Given the description of an element on the screen output the (x, y) to click on. 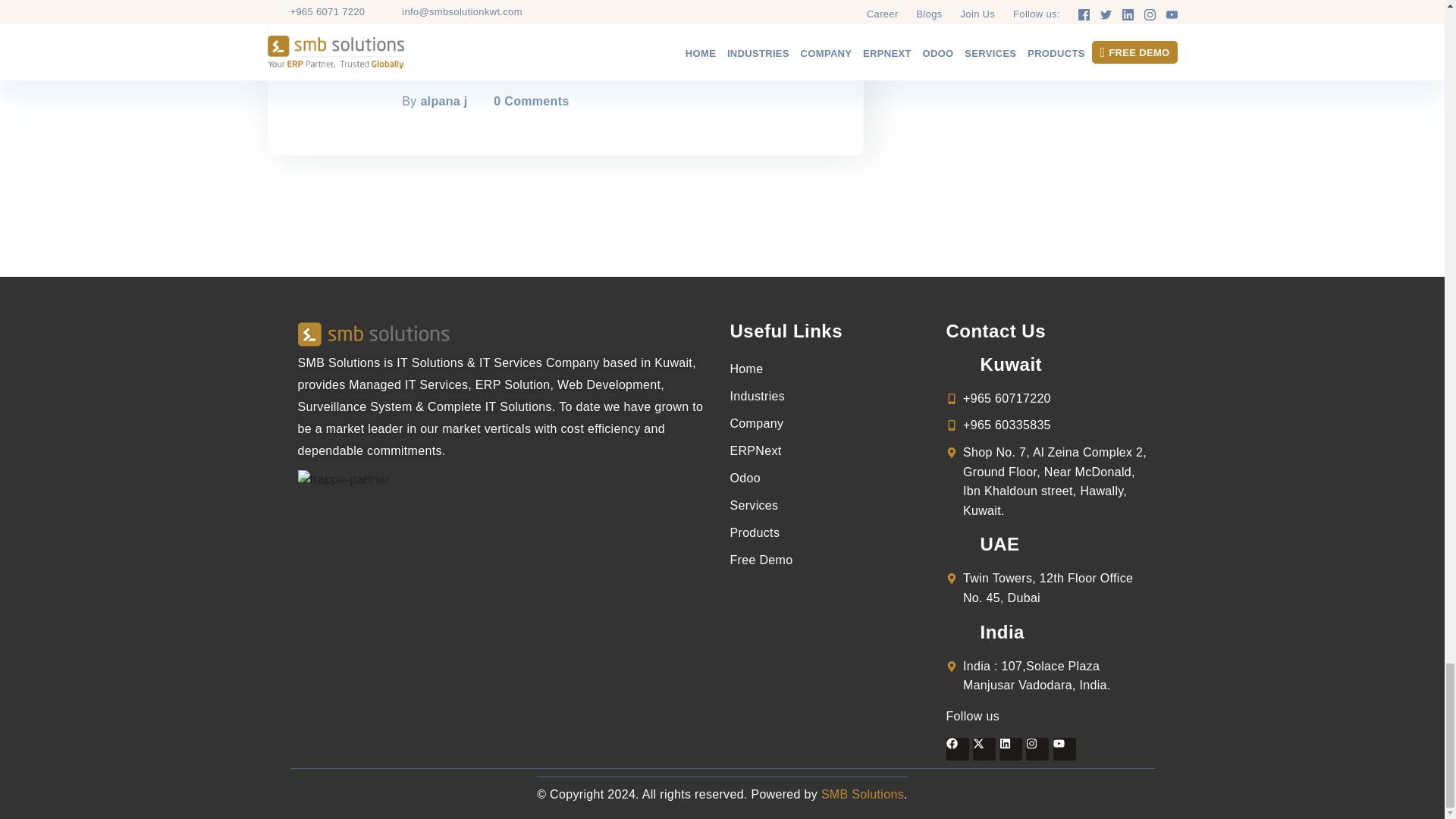
frappe-partner (343, 479)
